Given the description of an element on the screen output the (x, y) to click on. 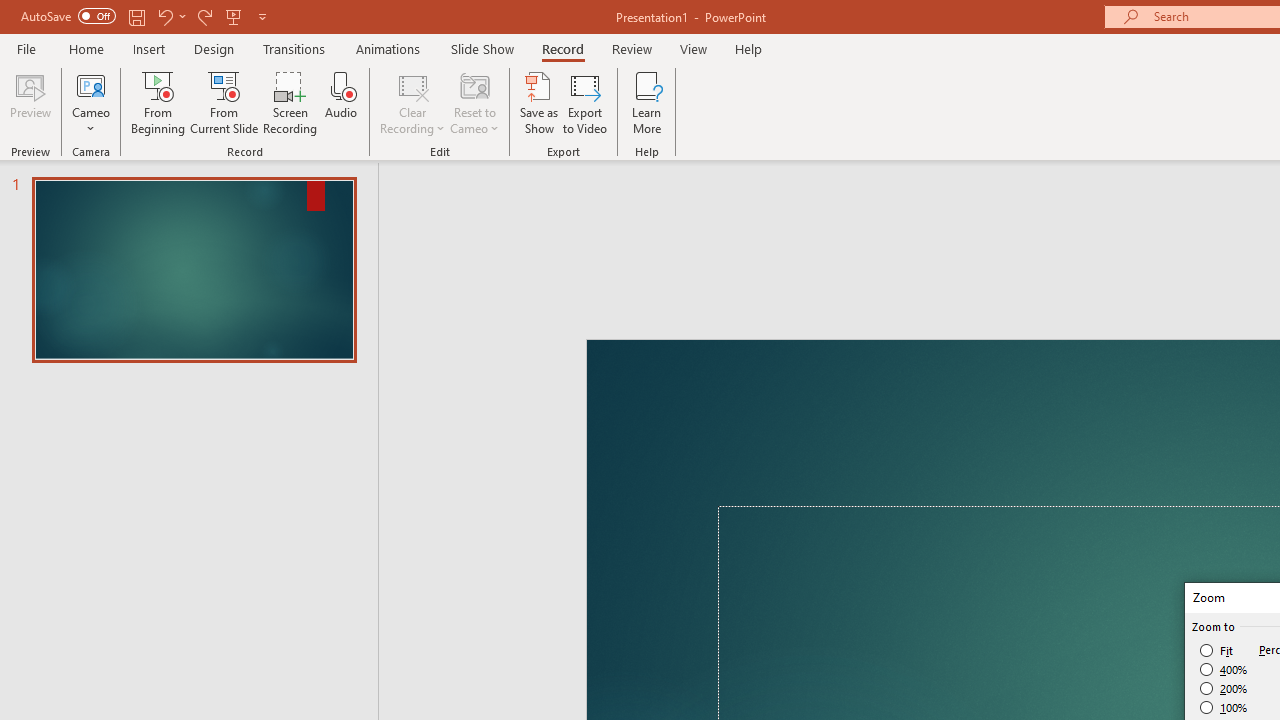
OfficePLUS (233, 84)
Home (127, 84)
Address Block... (757, 161)
Rules (1037, 126)
AutoSave (140, 31)
New Tab (909, 84)
References (690, 84)
Undo Click and Type Formatting (290, 31)
Quick Access Toolbar (233, 32)
Mailings (806, 84)
Labels... (232, 161)
Chinese Envelope... (68, 161)
Save (241, 31)
